Given the description of an element on the screen output the (x, y) to click on. 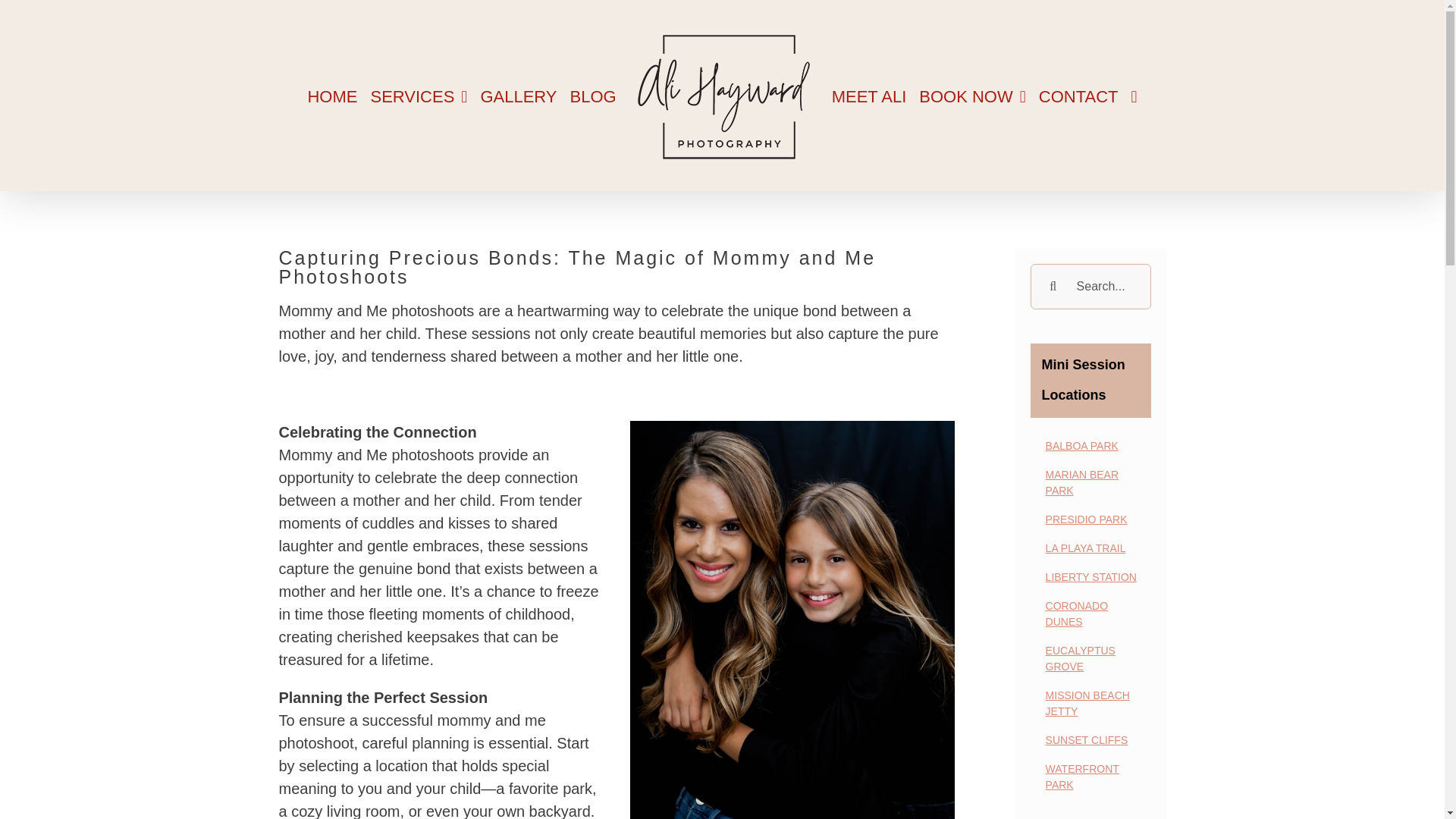
BALBOA PARK (1090, 446)
MARIAN BEAR PARK (1090, 483)
BOOK NOW (972, 94)
CONTACT (1078, 94)
MEET ALI (869, 94)
GALLERY (518, 94)
SERVICES (418, 94)
